Given the description of an element on the screen output the (x, y) to click on. 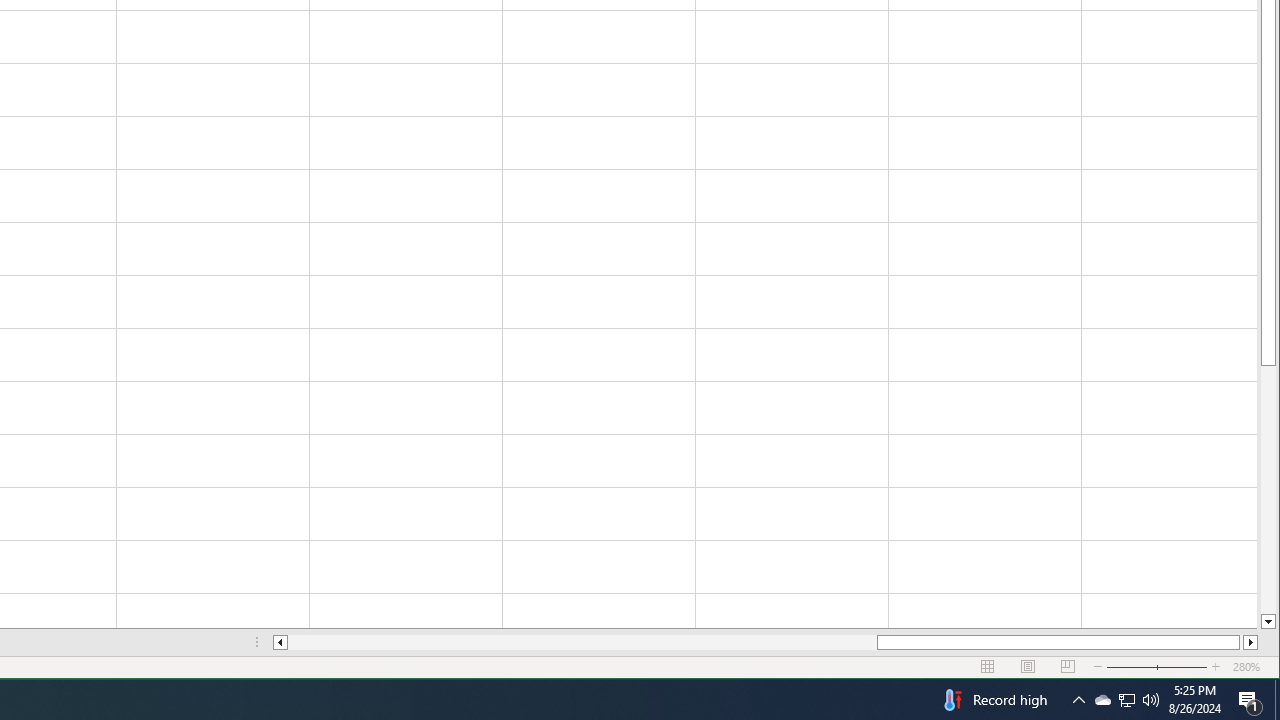
Show desktop (1126, 699)
